Given the description of an element on the screen output the (x, y) to click on. 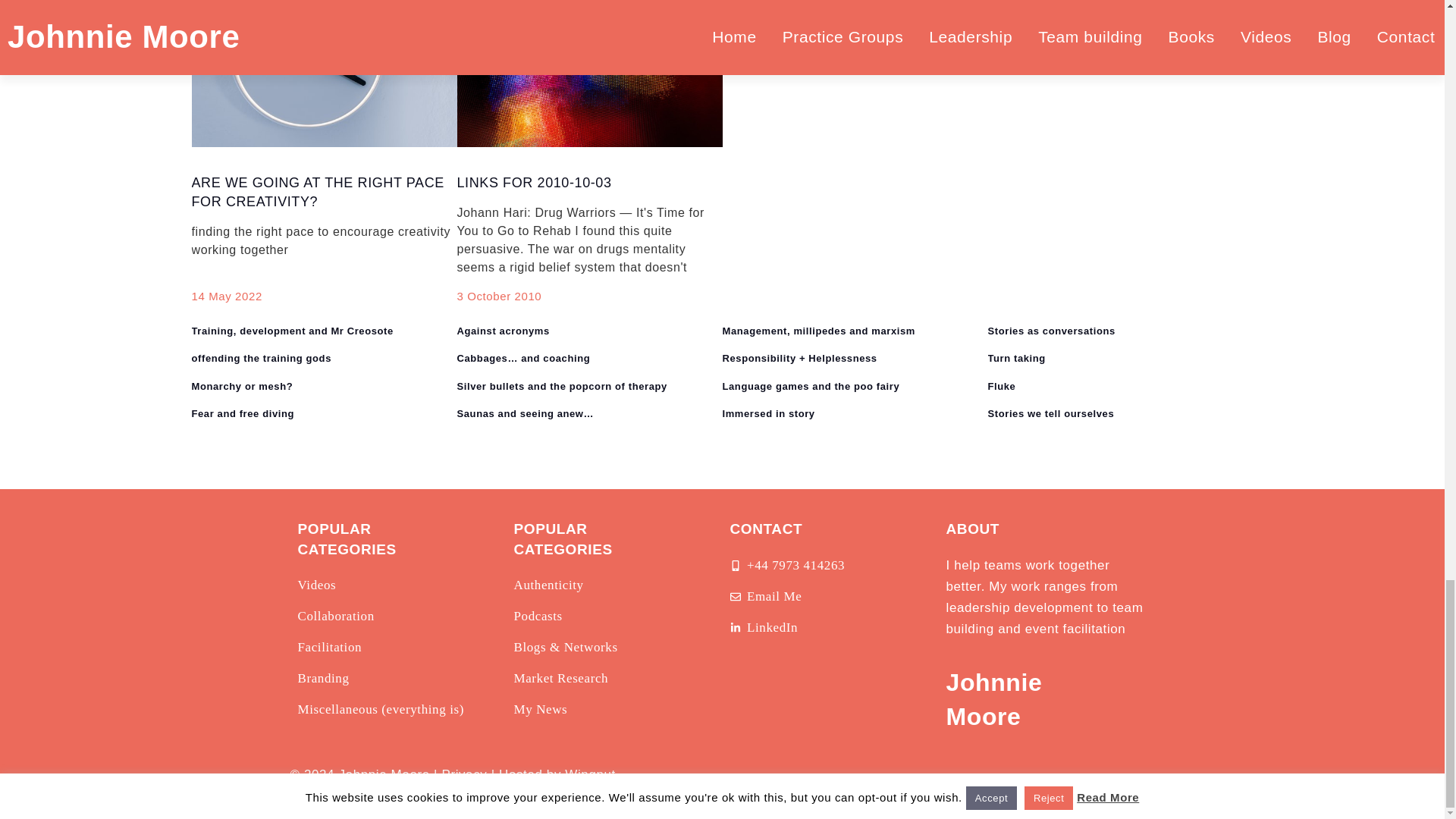
Videos (316, 585)
My News (540, 709)
Collaboration (335, 616)
Contact Johnnie Moore (765, 596)
Market Research (560, 678)
Authenticity (548, 585)
Podcasts (537, 616)
Facilitation (329, 647)
Branding (323, 678)
